Given the description of an element on the screen output the (x, y) to click on. 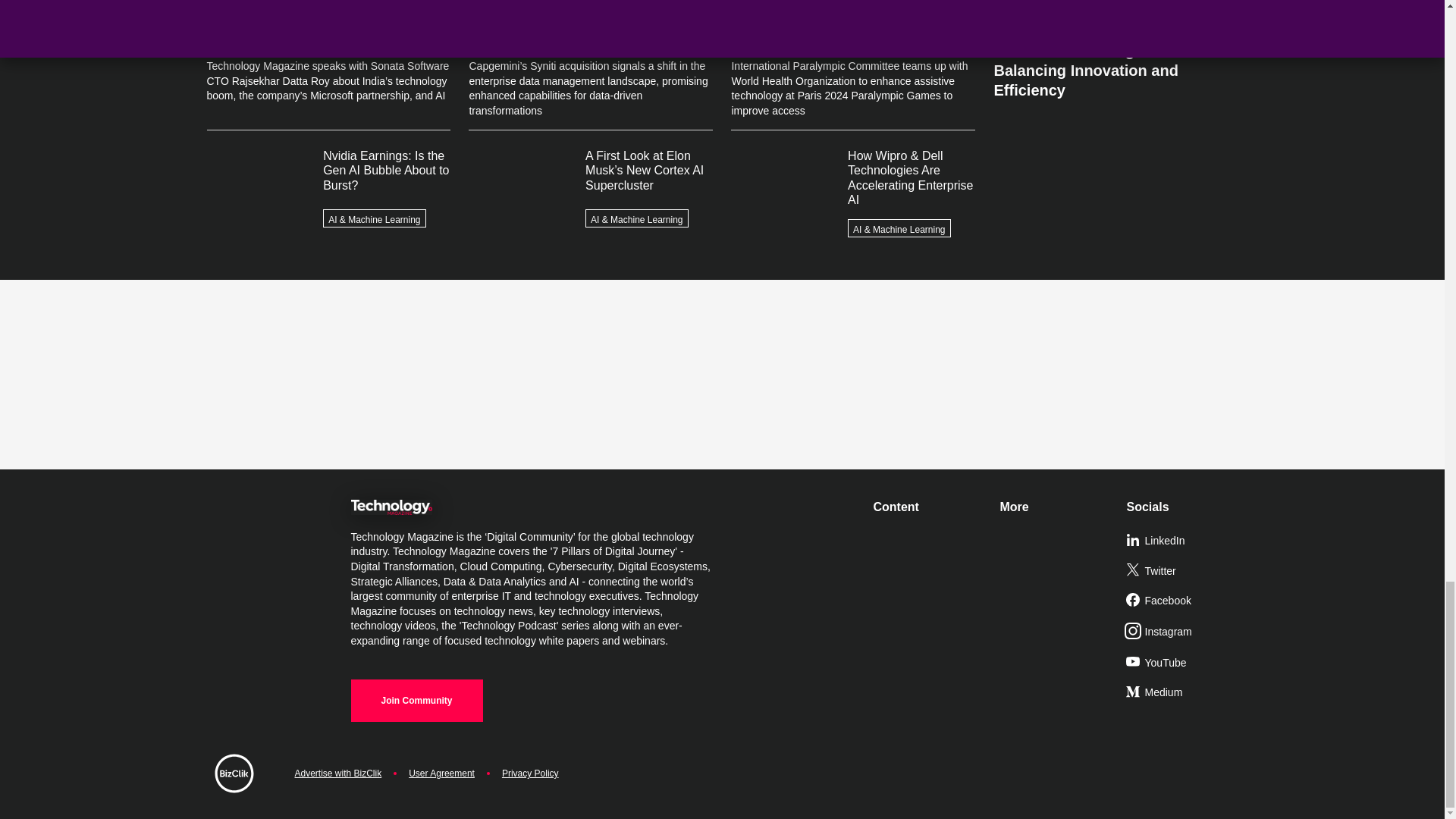
Facebook (1182, 601)
Twitter (1182, 571)
LinkedIn (1182, 541)
Paris 2024: Keeping the Paralympic Games Safe (1114, 14)
Join Community (415, 700)
Forrester CIO Budgets: Balancing Innovation and Efficiency (1114, 63)
